Given the description of an element on the screen output the (x, y) to click on. 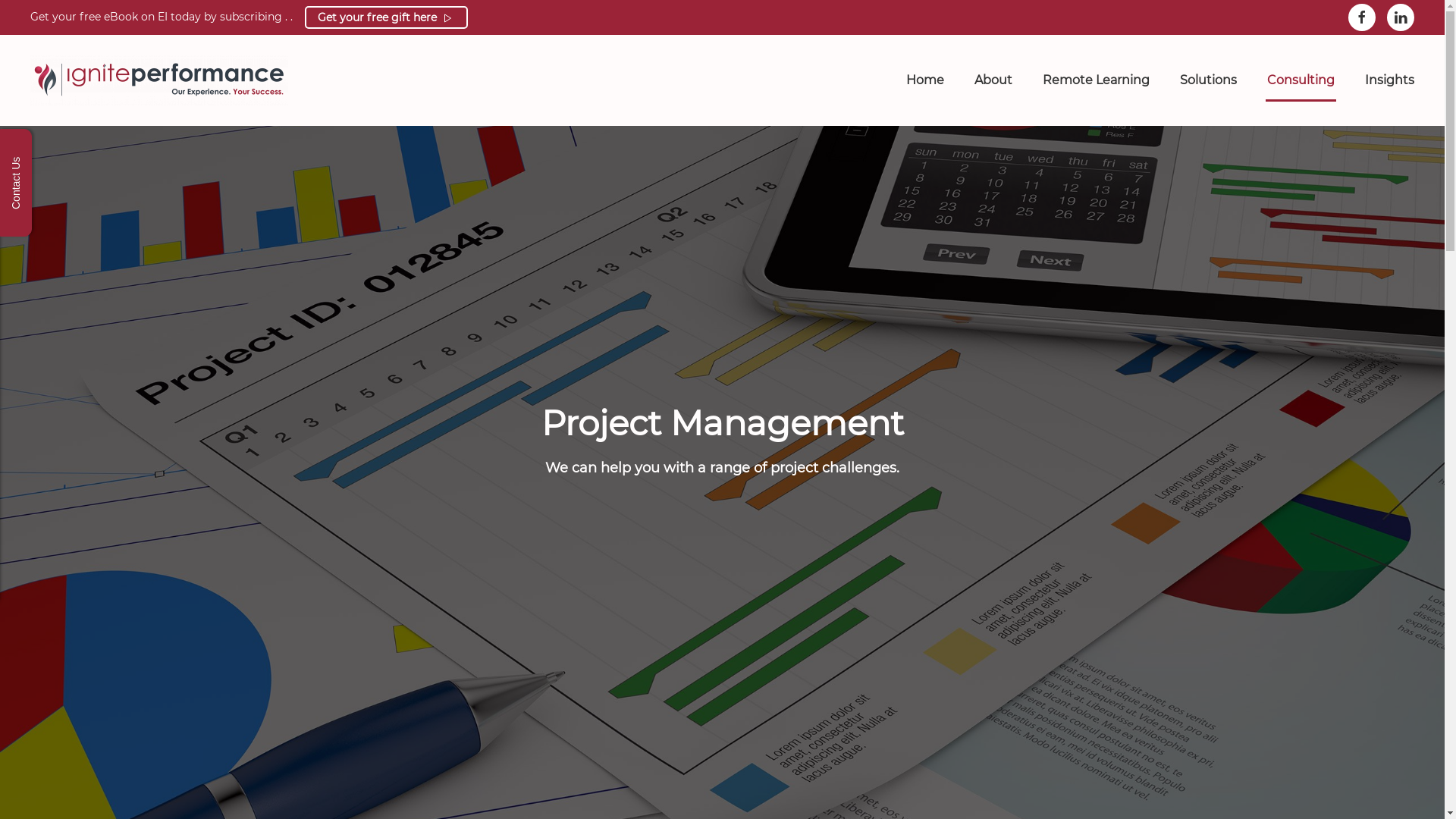
Insights Element type: text (1389, 80)
Home Element type: text (925, 80)
Solutions Element type: text (1208, 80)
Get your free gift here Element type: text (385, 17)
Consulting Element type: text (1300, 80)
About Element type: text (993, 80)
Remote Learning Element type: text (1095, 80)
